Given the description of an element on the screen output the (x, y) to click on. 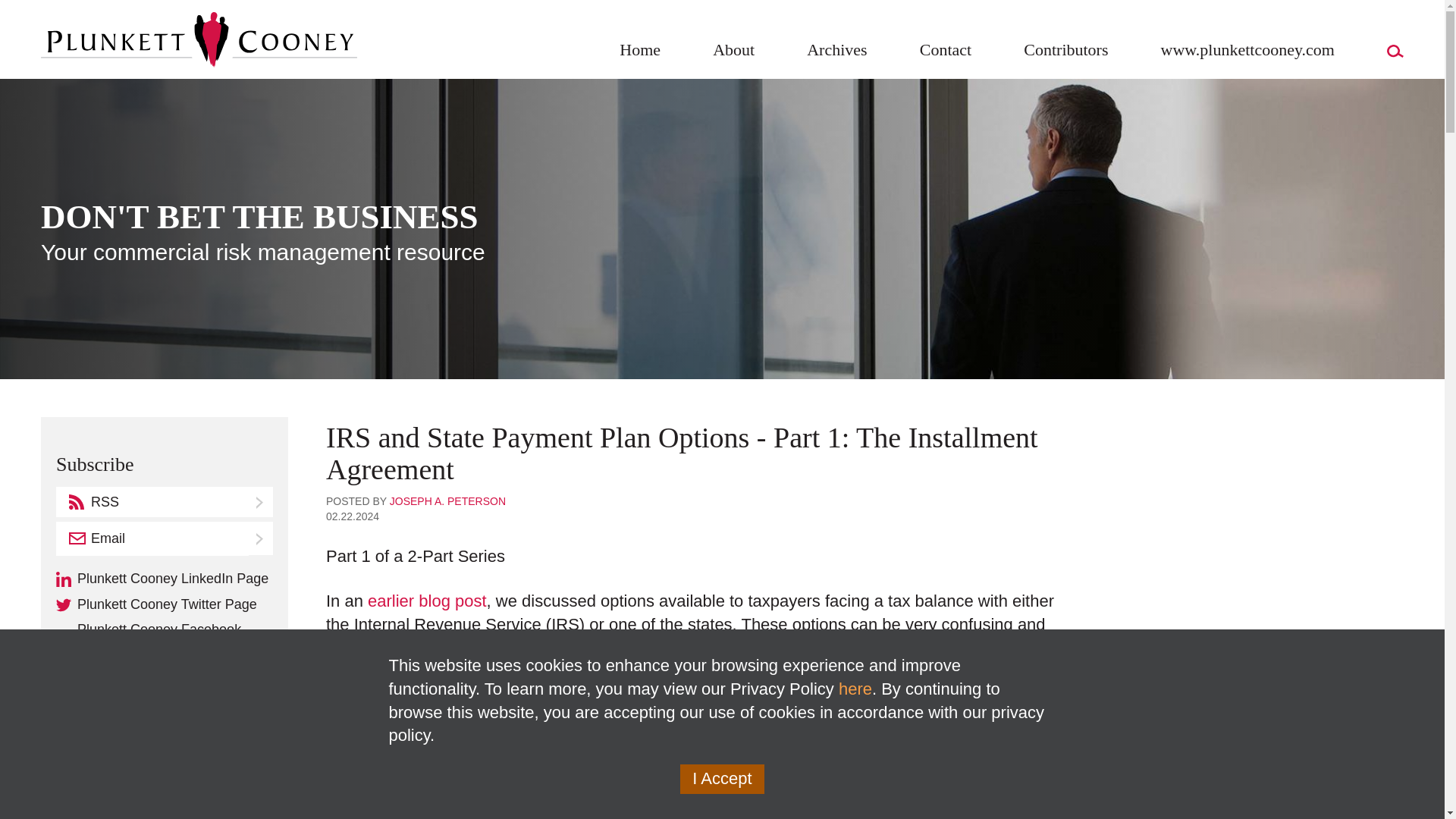
Plunkett Cooney Facebook Page (164, 637)
Plunkett Cooney LinkedIn Page (164, 579)
Free Dos and Don'ts Guide (131, 732)
www.plunkettcooney.com (1246, 53)
Home (640, 53)
earlier blog post (427, 600)
About (733, 53)
Plunkett Cooney Twitter Page (164, 605)
Plunkett Cooney LinkedIn Page (164, 579)
here (855, 688)
